Given the description of an element on the screen output the (x, y) to click on. 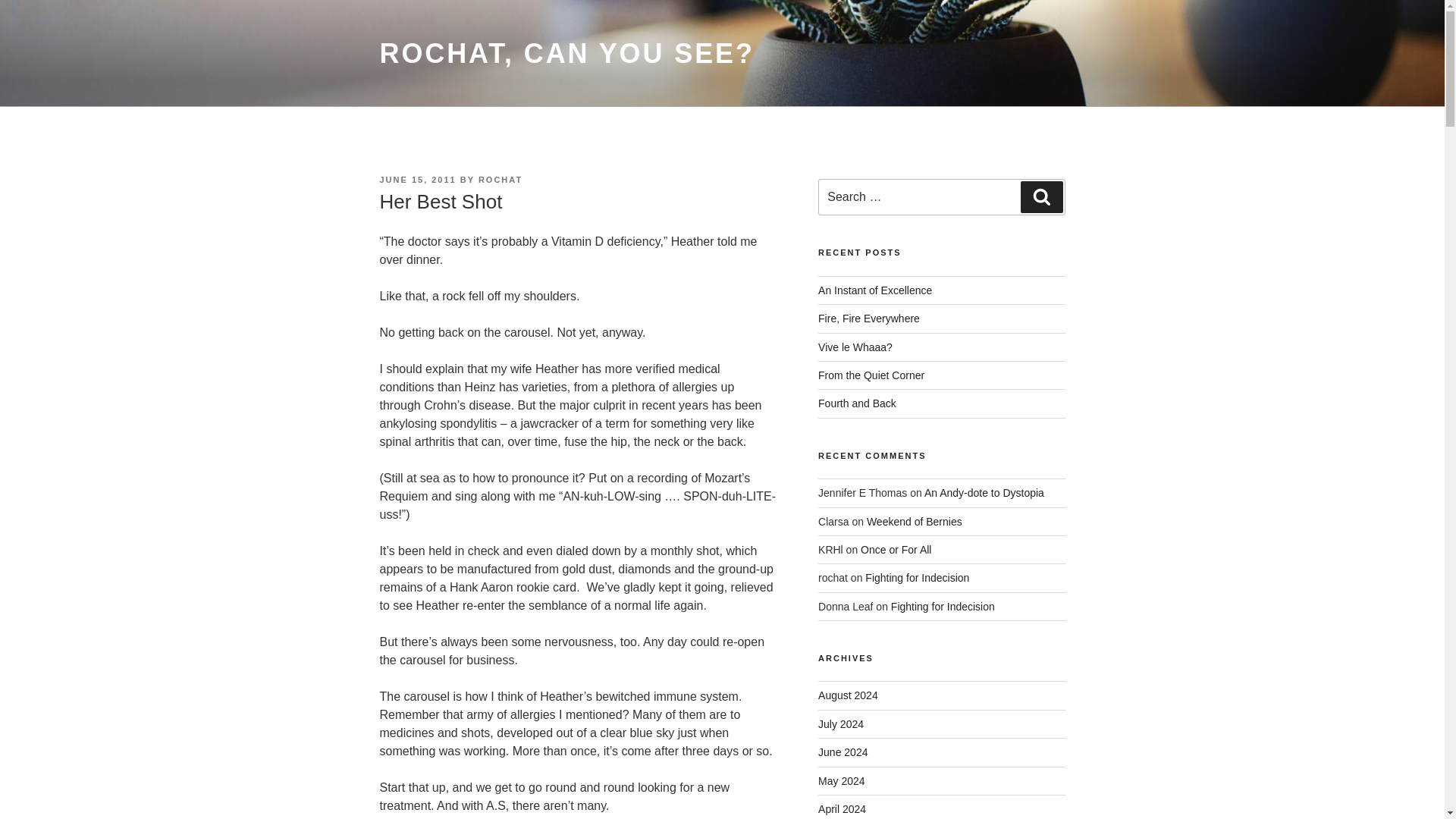
May 2024 (841, 780)
An Andy-dote to Dystopia (983, 492)
ROCHAT (500, 179)
April 2024 (842, 808)
Fourth and Back (857, 403)
August 2024 (847, 695)
Search (1041, 196)
Vive le Whaaa? (855, 346)
June 2024 (842, 752)
July 2024 (840, 724)
